Given the description of an element on the screen output the (x, y) to click on. 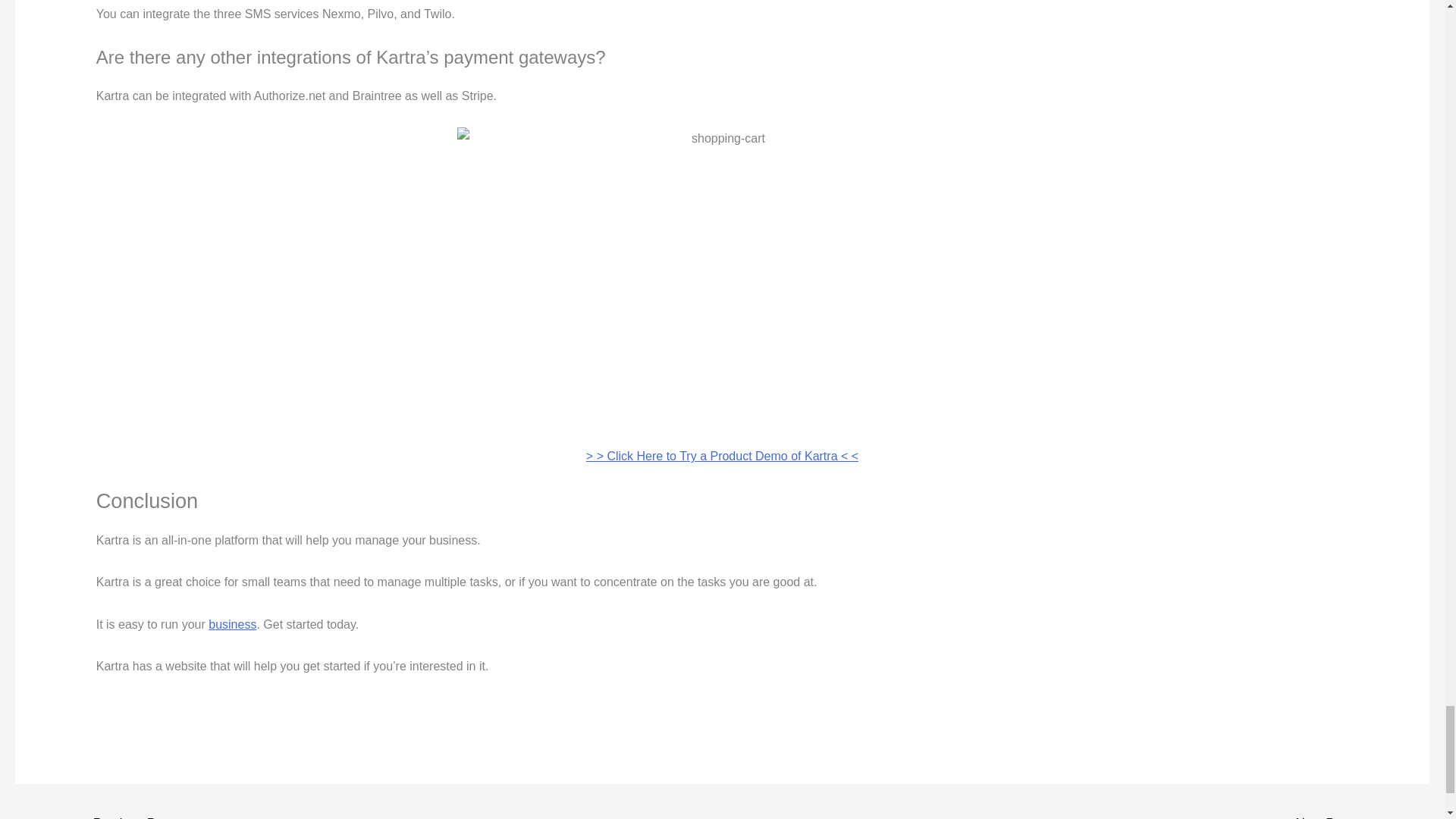
business (232, 624)
